Given the description of an element on the screen output the (x, y) to click on. 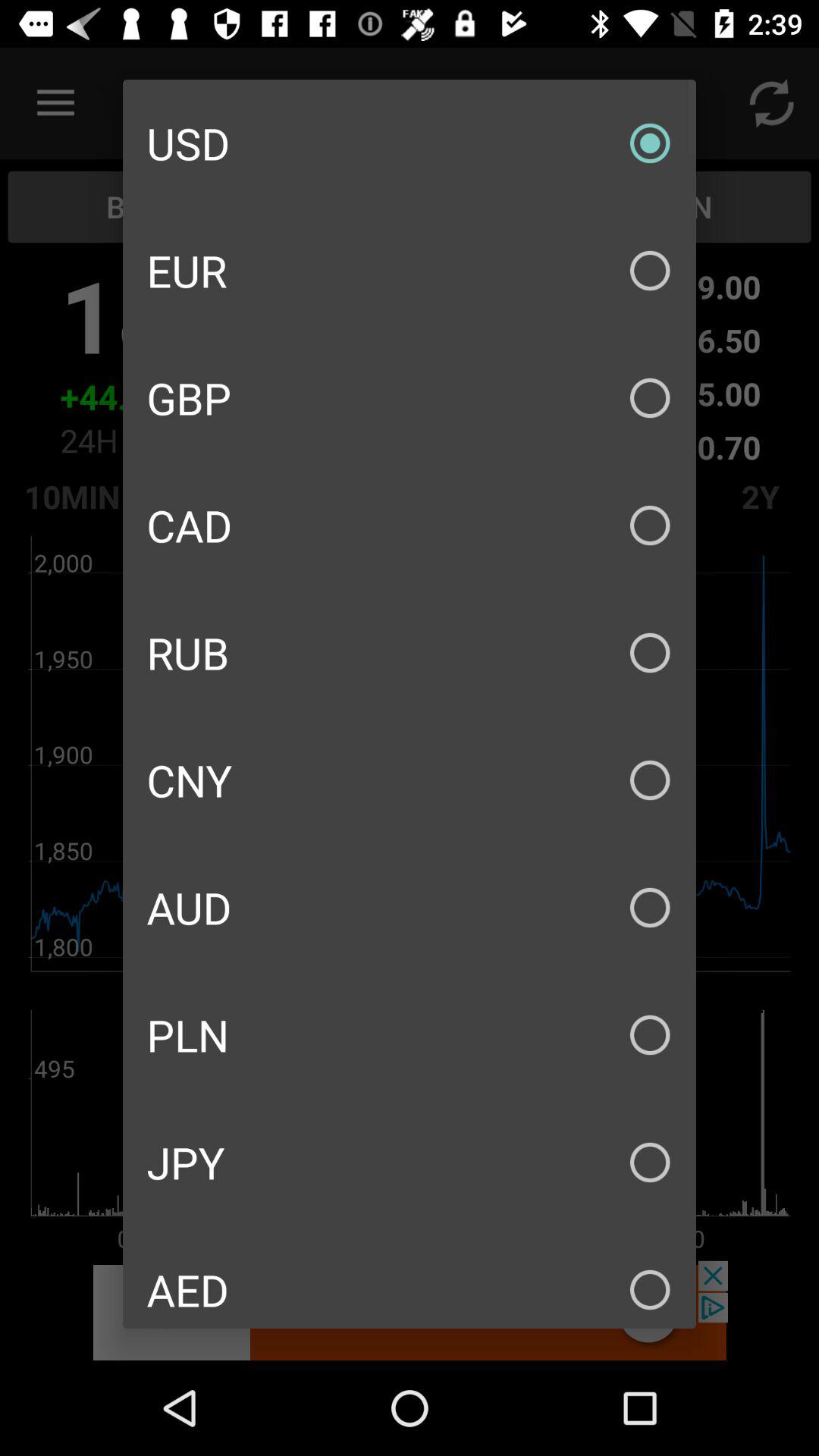
press item above the jpy item (409, 1034)
